Given the description of an element on the screen output the (x, y) to click on. 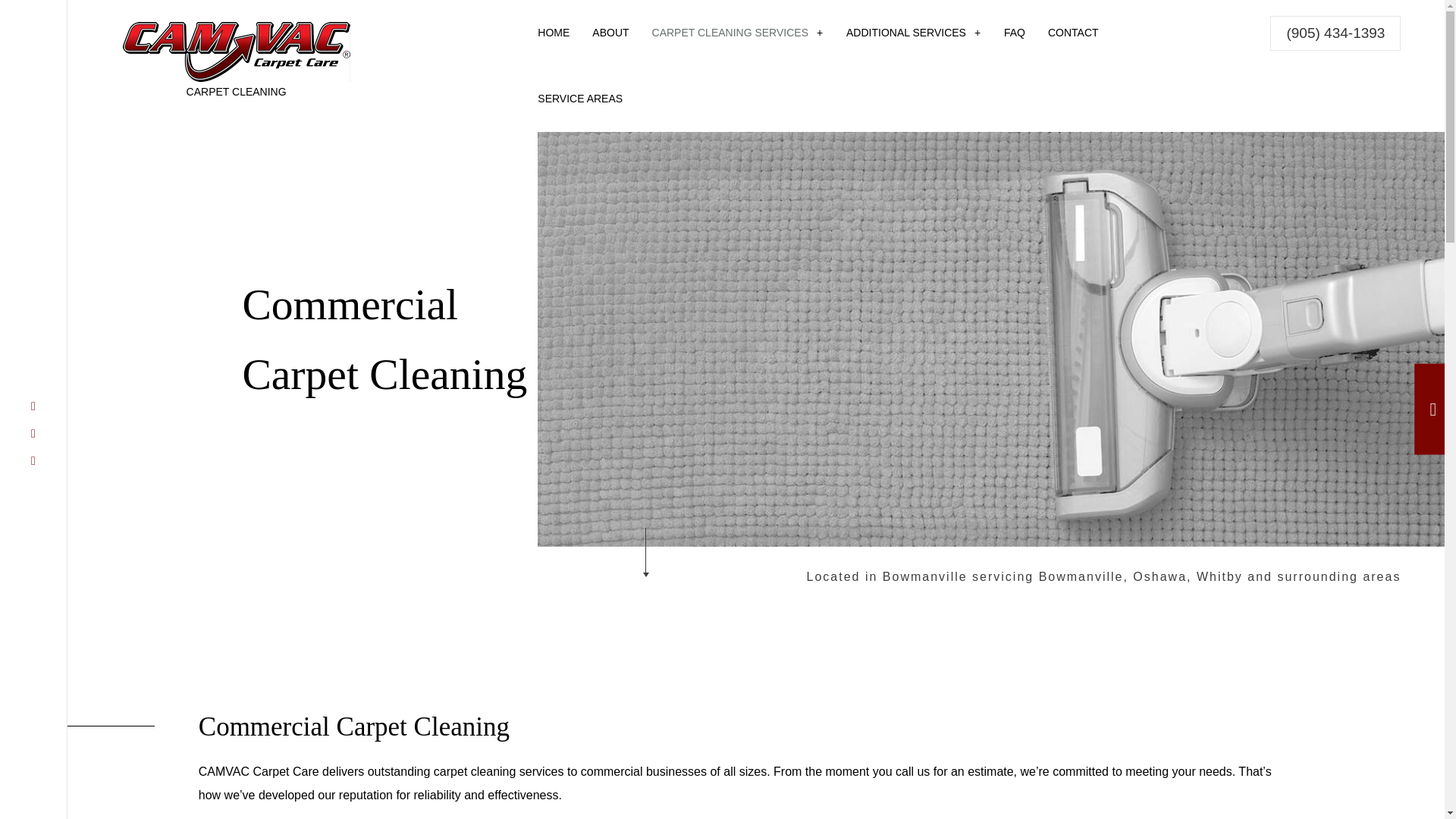
CAMVAC Carpet Care's Google Map (33, 460)
CAMVAC Carpet Care's Facebook (33, 406)
ABOUT (610, 33)
ADDITIONAL SERVICES (913, 33)
DEEP CARPET CLEANING (710, 154)
COMMERCIAL CARPET CLEANING (936, 128)
CARPET RESTORATION (936, 101)
CARPET CLEANING SERVICES (737, 33)
RESIDENTIAL CARPET CLEANING (936, 154)
FURNITURE CLEANING (1130, 101)
CARPET CLEANING (710, 101)
CAMVAC Carpet Care's Instagram (33, 433)
CARPET STAIN REMOVAL (710, 128)
HOME (552, 33)
AREA RUG CLEANING (904, 101)
